Given the description of an element on the screen output the (x, y) to click on. 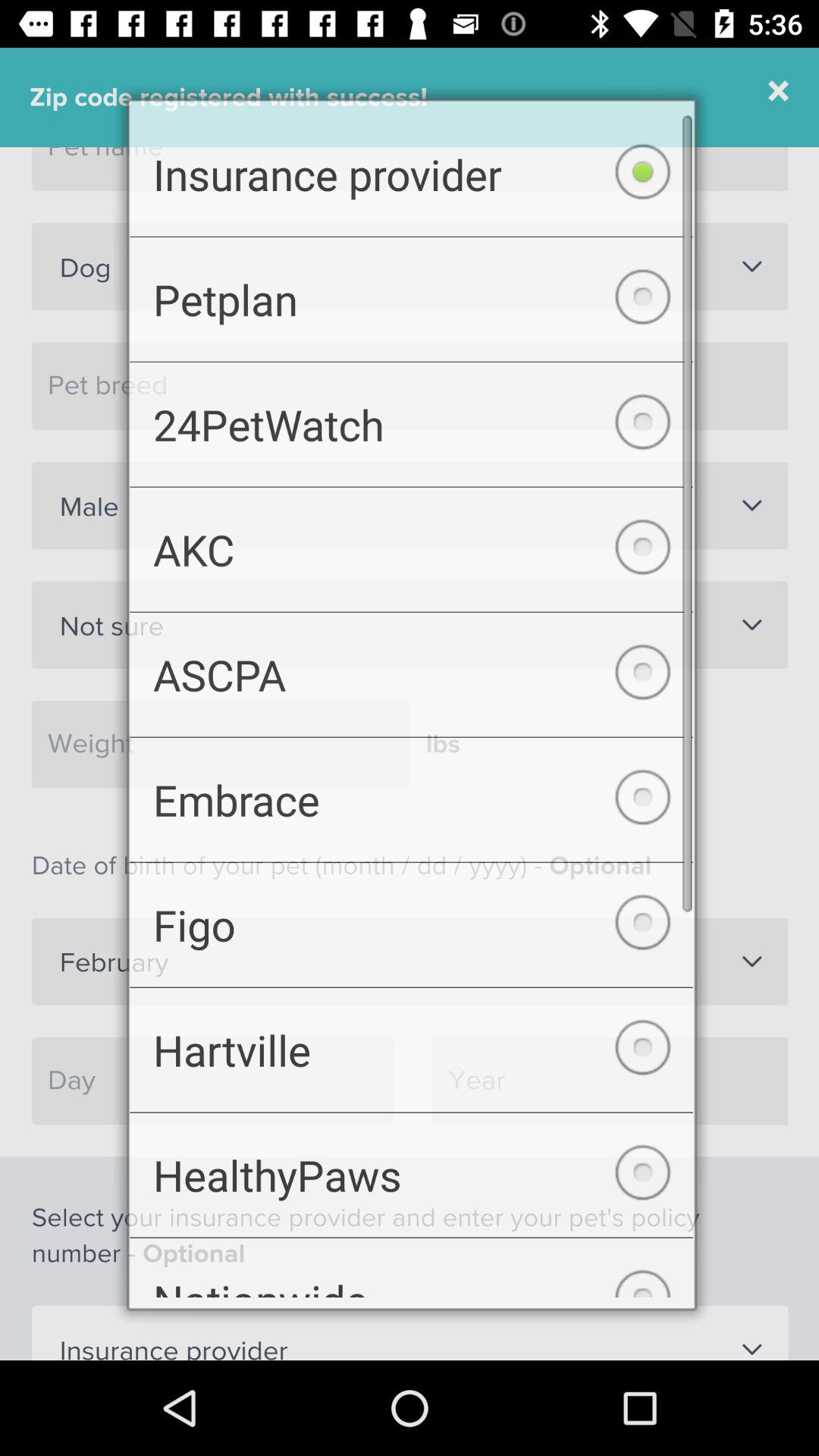
select the 24petwatch item (411, 416)
